Given the description of an element on the screen output the (x, y) to click on. 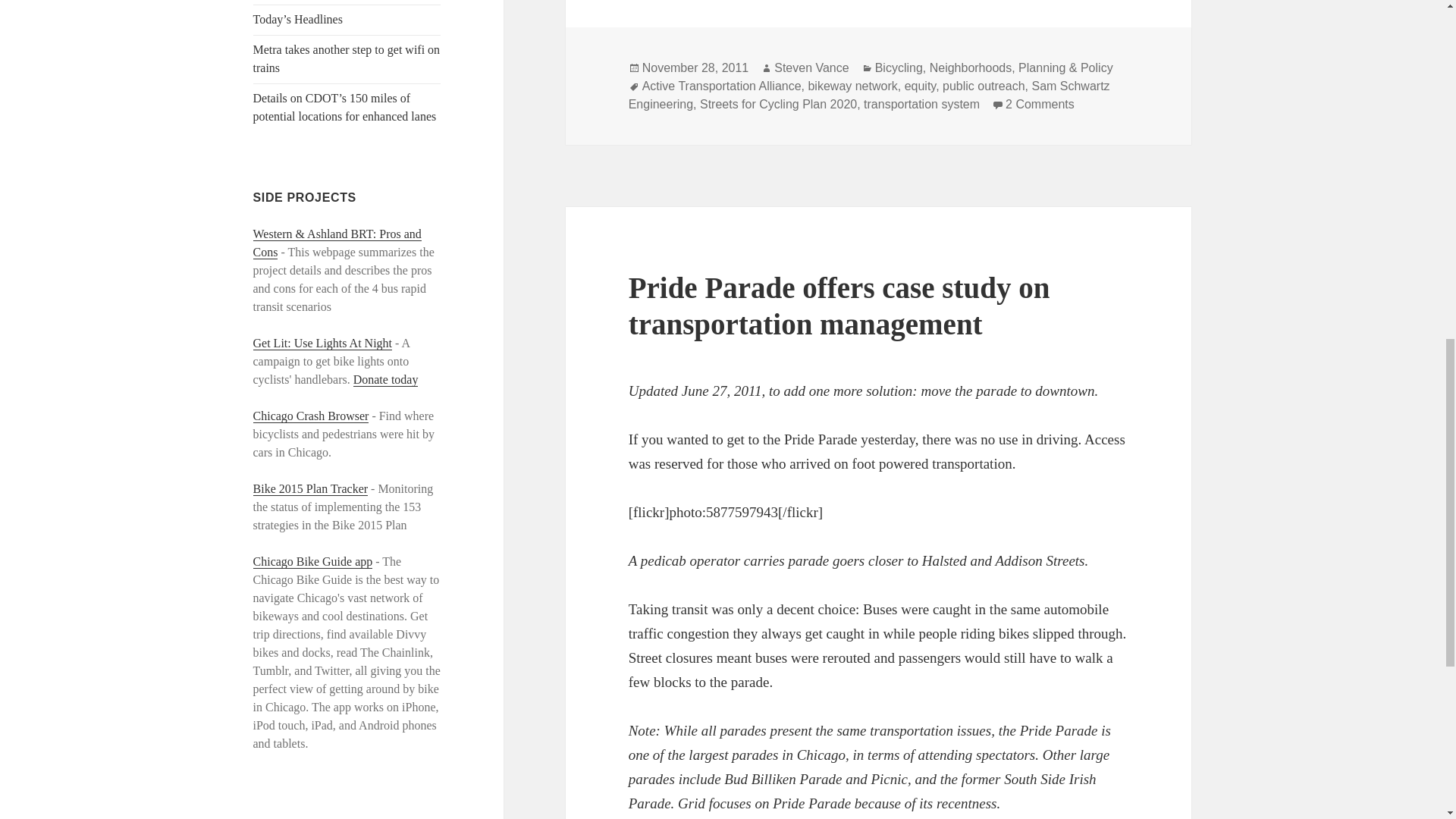
bikeway network (852, 86)
Chicago Crash Browser (311, 416)
transportation system (921, 104)
Streets for Cycling Plan 2020 (778, 104)
equity (920, 86)
Get Lit: Use Lights At Night (323, 343)
November 28, 2011 (695, 68)
Steven Vance (811, 68)
public outreach (983, 86)
